Given the description of an element on the screen output the (x, y) to click on. 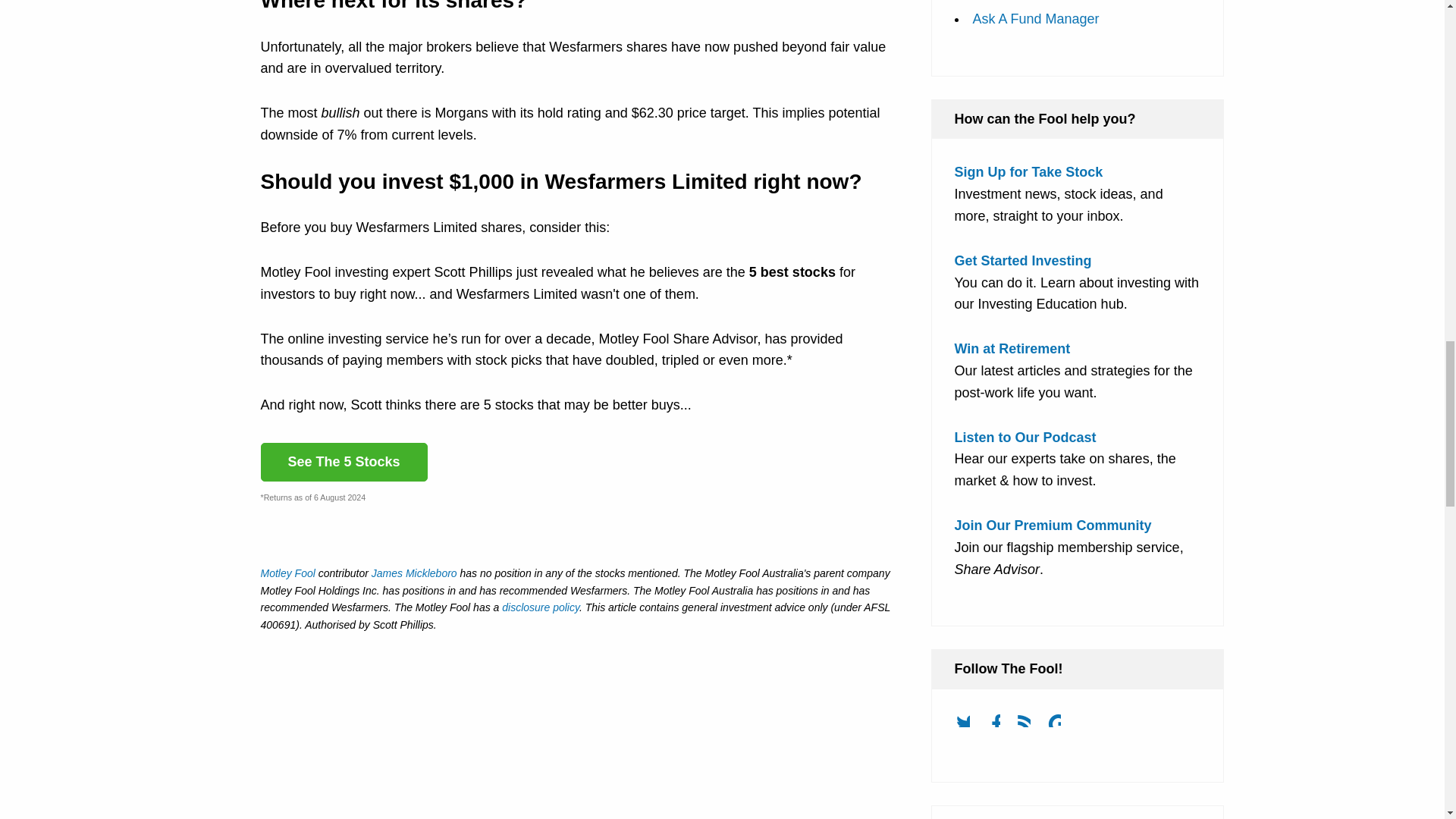
The Motley Fool RSS Feed (1029, 725)
The Motley Fool Google News Feed (1060, 725)
The Motley Fool on Facebook (999, 725)
The Motley Fool on Twitter (968, 725)
